Given the description of an element on the screen output the (x, y) to click on. 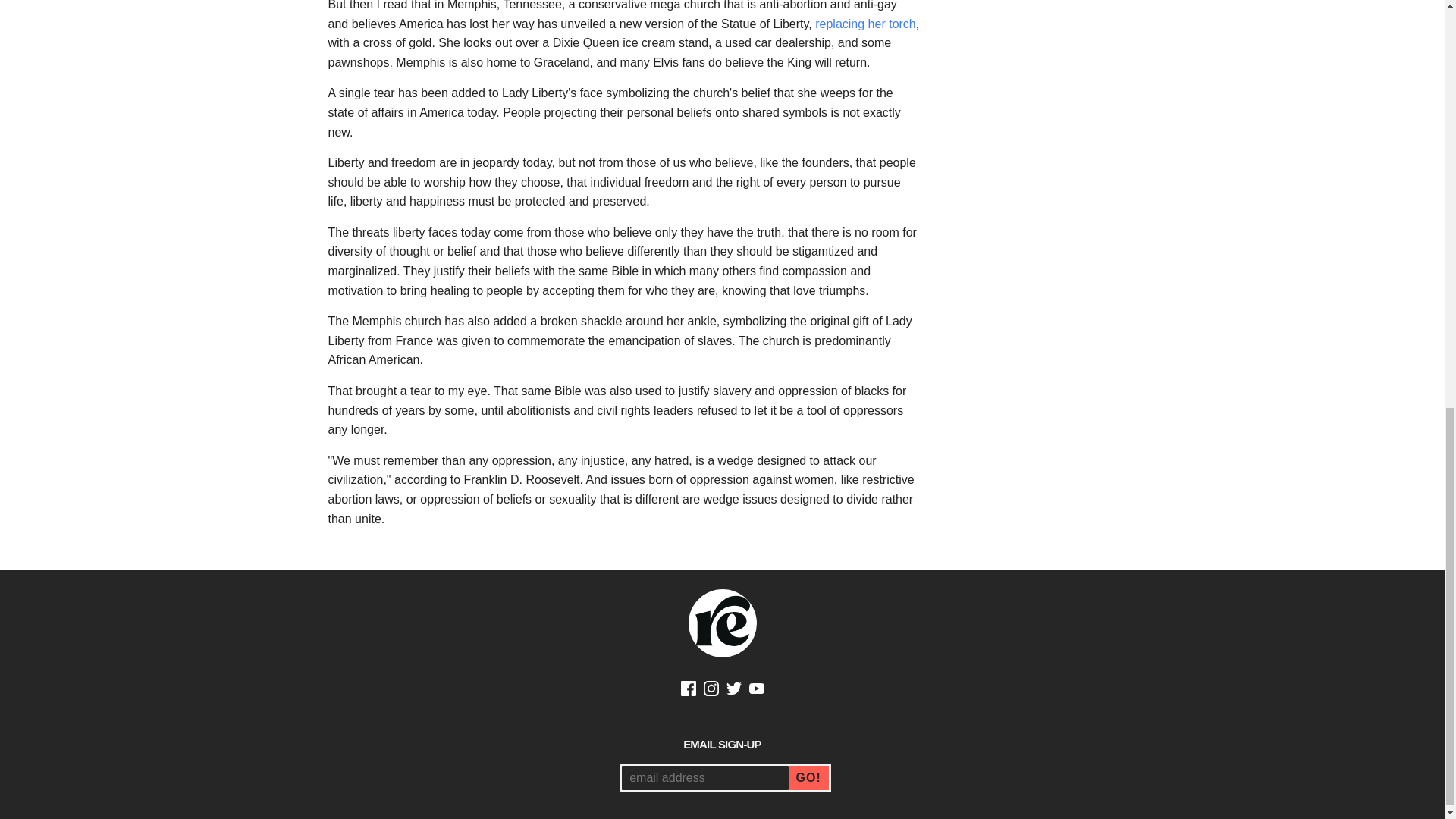
GO! (810, 777)
YOUTUBE (756, 690)
GO! (810, 777)
replacing her torch (865, 23)
FACEBOOK (688, 690)
TWITTER (733, 690)
INSTAGRAM (711, 690)
